Given the description of an element on the screen output the (x, y) to click on. 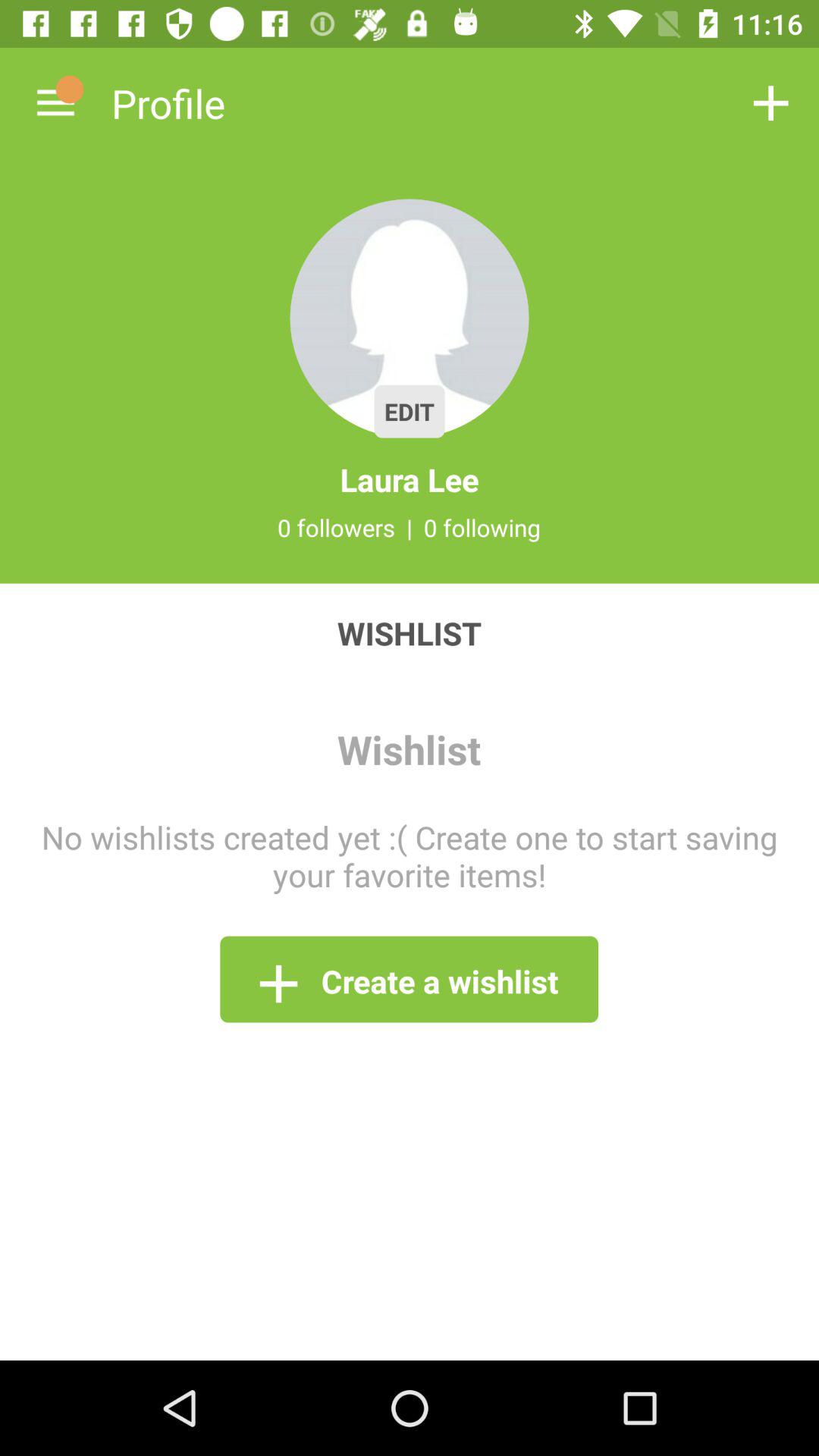
click the icon above the     create a wishlist icon (409, 855)
